Given the description of an element on the screen output the (x, y) to click on. 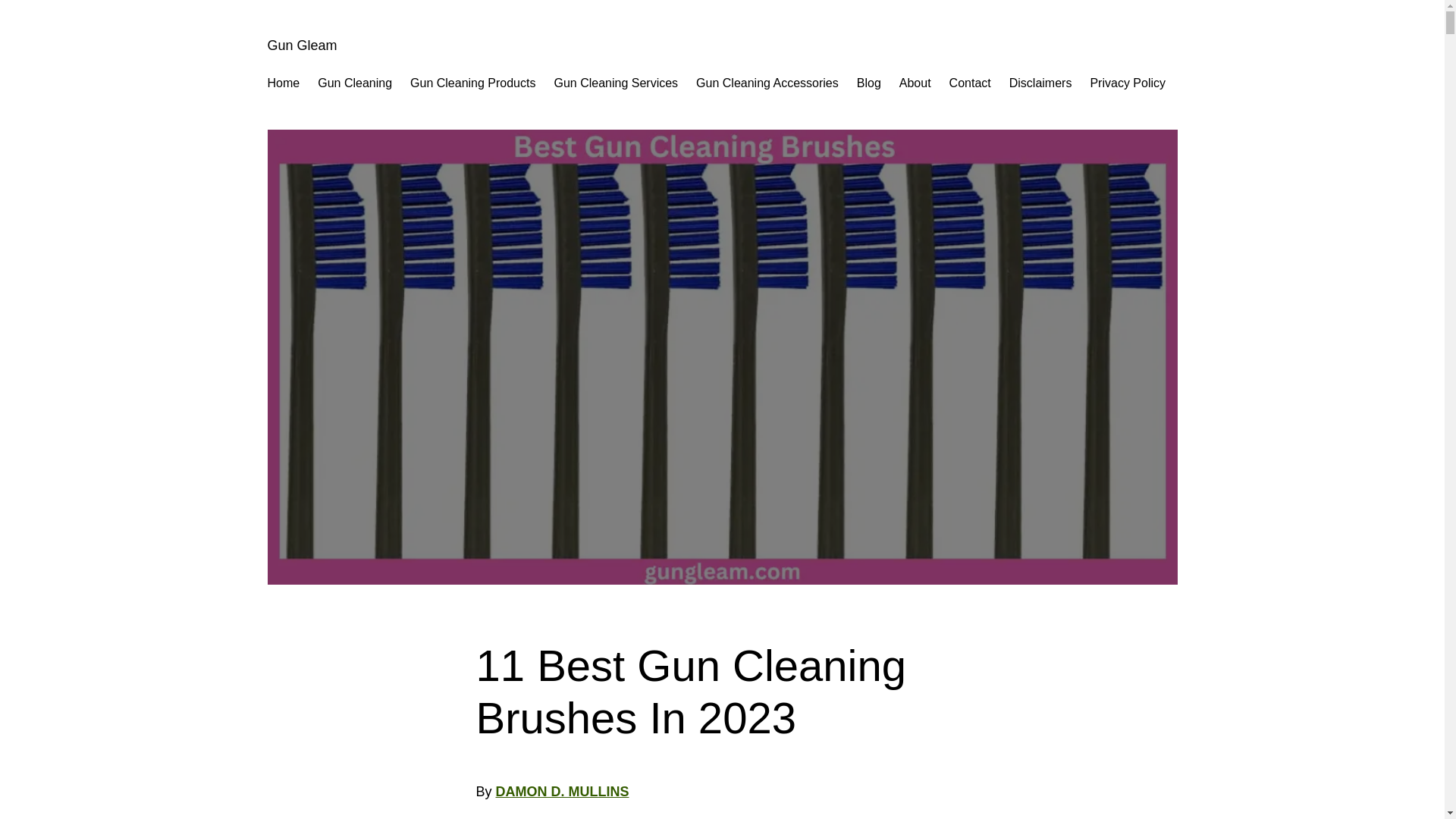
About (915, 83)
Blog (868, 83)
Gun Cleaning Products (472, 83)
Gun Cleaning (354, 83)
Privacy Policy (1127, 83)
Home (282, 83)
Gun Gleam (301, 45)
Disclaimers (1040, 83)
Gun Cleaning Services (615, 83)
Gun Cleaning Accessories (766, 83)
